Given the description of an element on the screen output the (x, y) to click on. 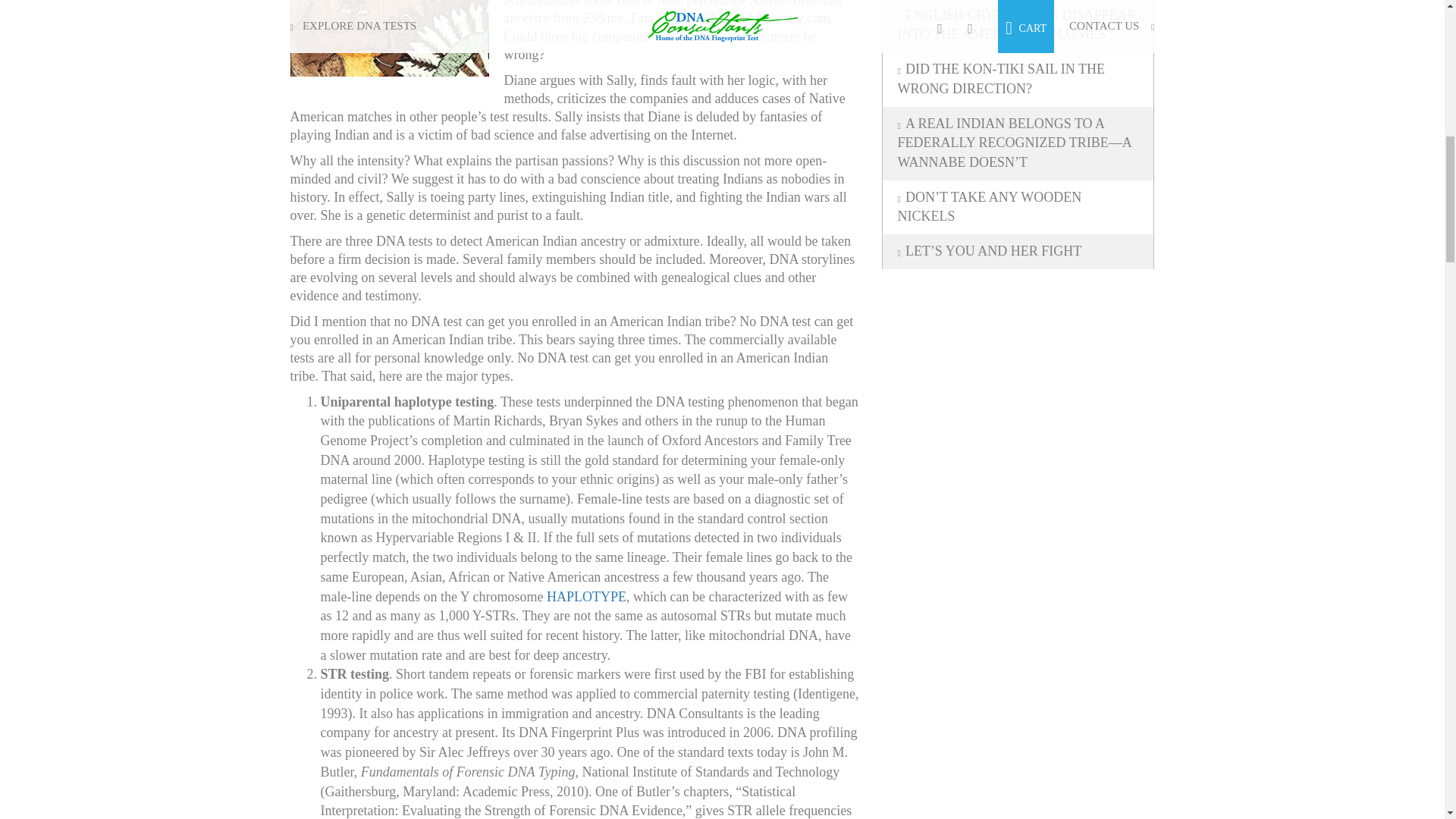
English Crypto-Jews Disappear into the American Colonies (1018, 26)
HAPLOTYPE (586, 596)
Did the Kon-Tiki Sail in the Wrong Direction? (1018, 79)
